Given the description of an element on the screen output the (x, y) to click on. 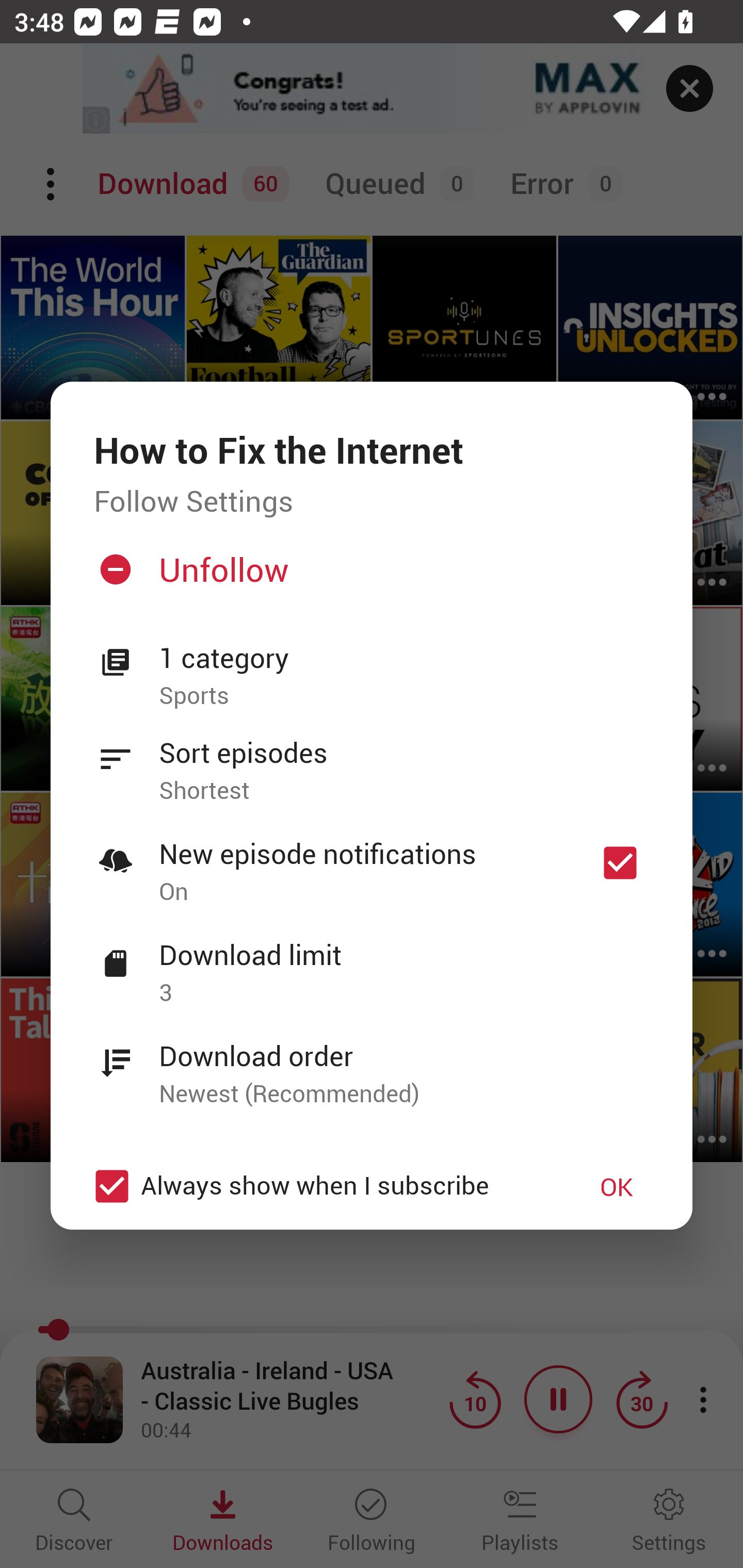
Unfollow (369, 576)
1 category (404, 658)
Sports (404, 696)
Sort episodes Shortest (371, 760)
New episode notifications (620, 863)
Download limit 3 (371, 962)
Download order Newest (Recommended) (371, 1063)
OK (616, 1186)
Always show when I subscribe (320, 1186)
